Given the description of an element on the screen output the (x, y) to click on. 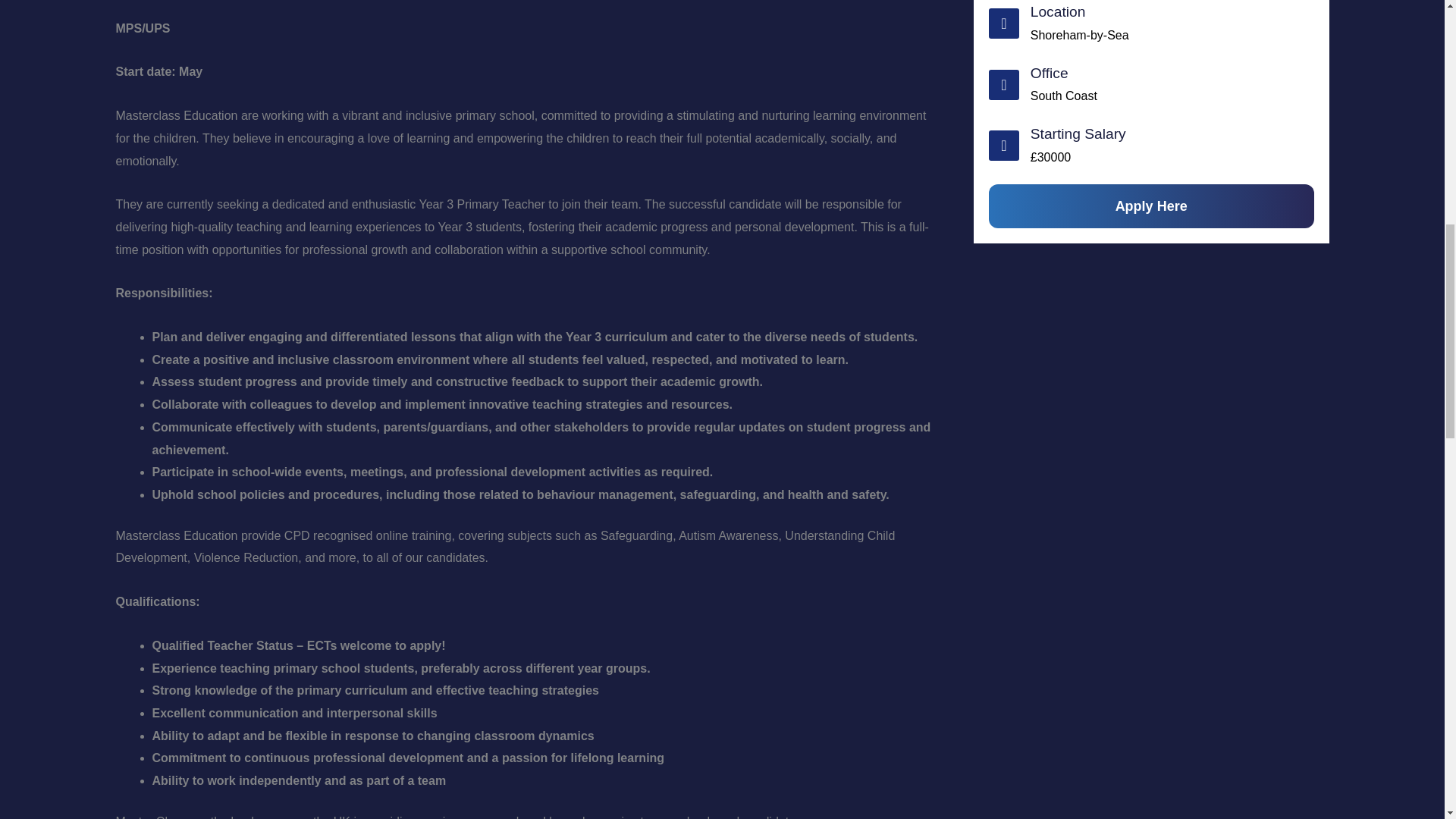
Apply Here (1151, 206)
